Given the description of an element on the screen output the (x, y) to click on. 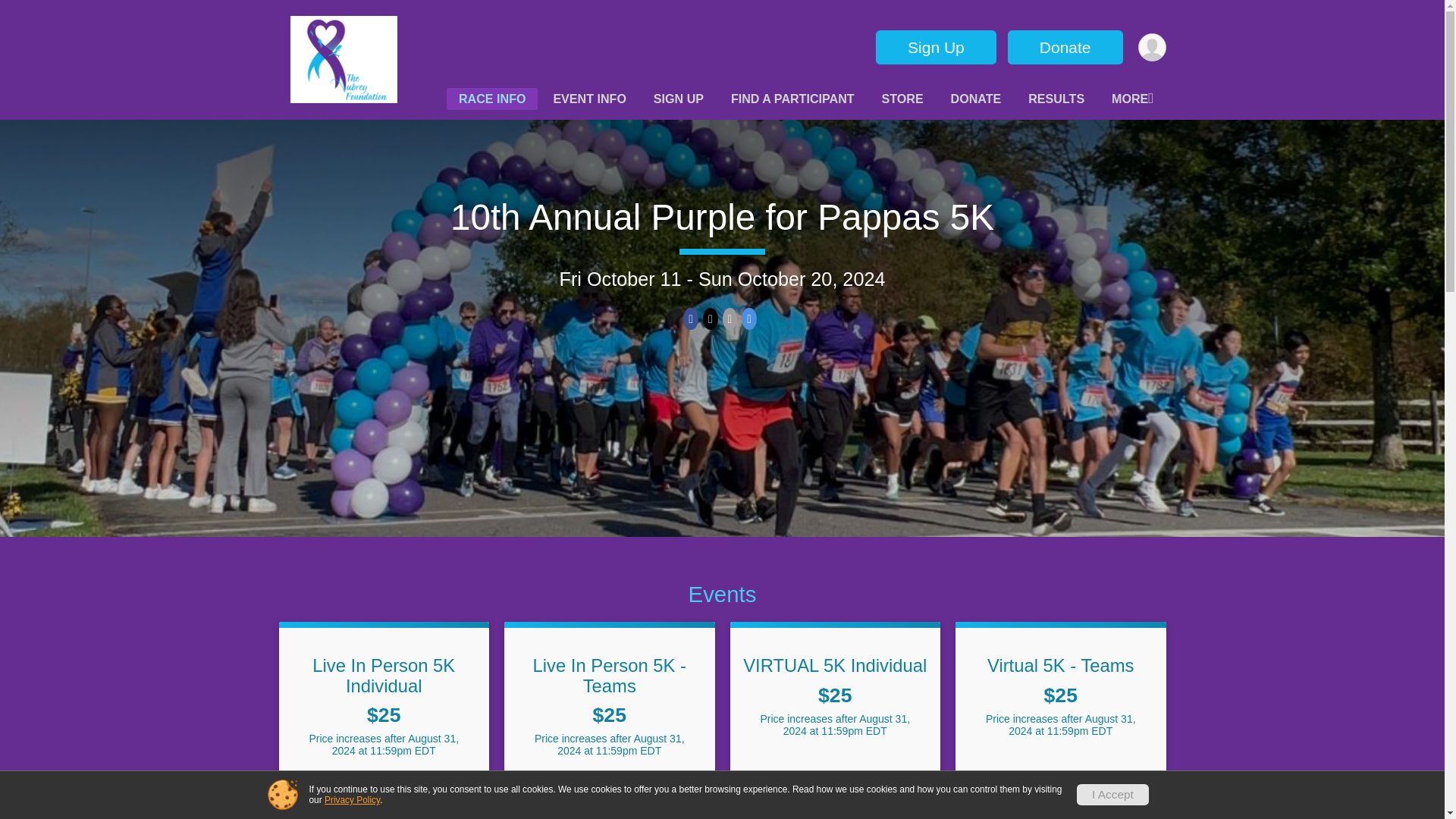
STORE (903, 98)
DONATE (976, 98)
FIND A PARTICIPANT (792, 98)
SIGN UP (678, 98)
MORE (1131, 98)
10th Annual Purple for Pappas 5K (721, 217)
RESULTS (1056, 98)
RACE INFO (492, 98)
Donate (1064, 47)
EVENT INFO (588, 98)
Sign Up (935, 47)
